Given the description of an element on the screen output the (x, y) to click on. 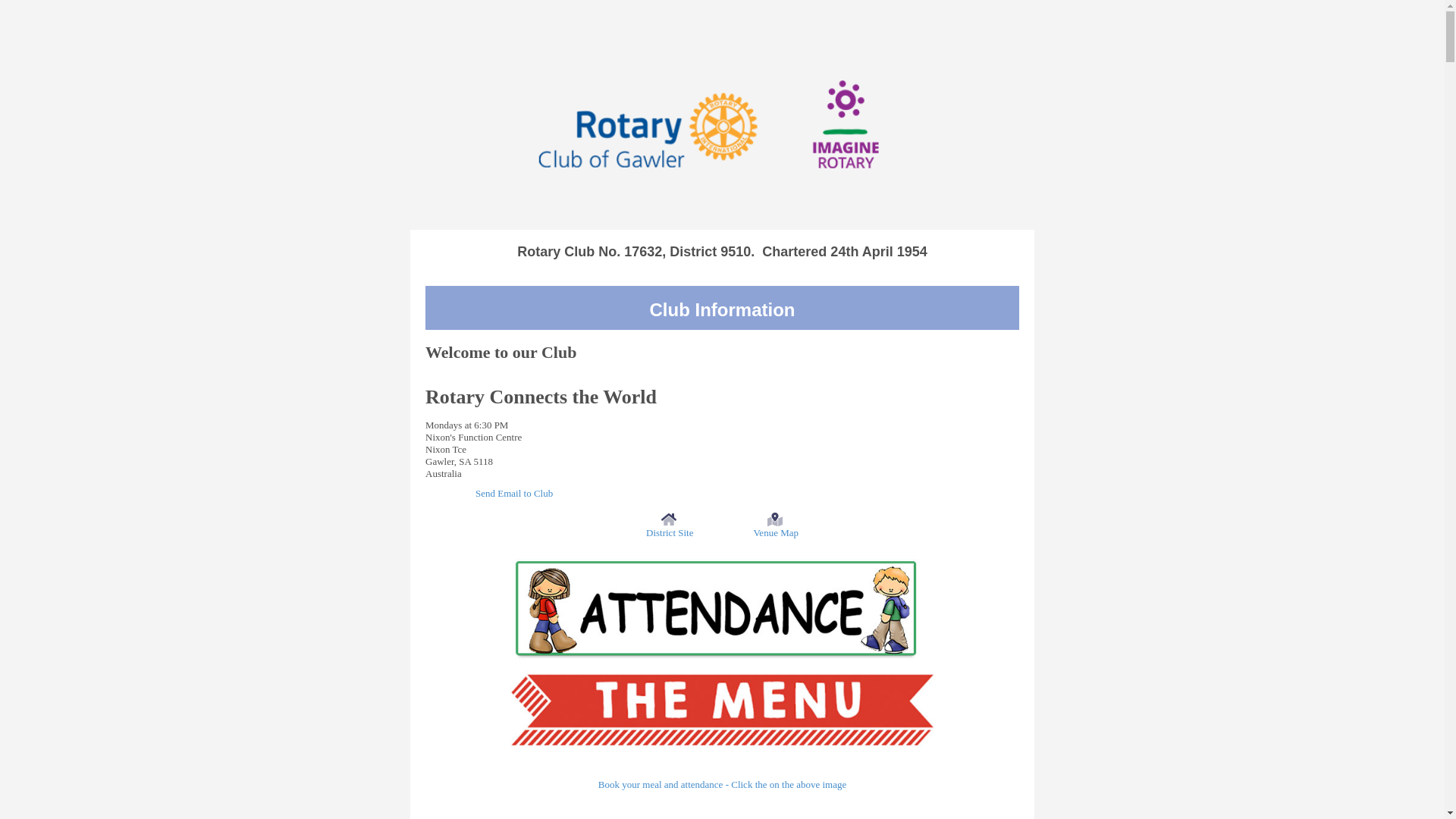
Venue Map Element type: hover (774, 519)
Book your meal and attendance - Click the on the above image Element type: text (722, 784)
District Site Element type: text (669, 532)
Send Email to Club Element type: text (513, 492)
Venue Map Element type: text (775, 532)
District Site Icon Element type: hover (668, 519)
